Given the description of an element on the screen output the (x, y) to click on. 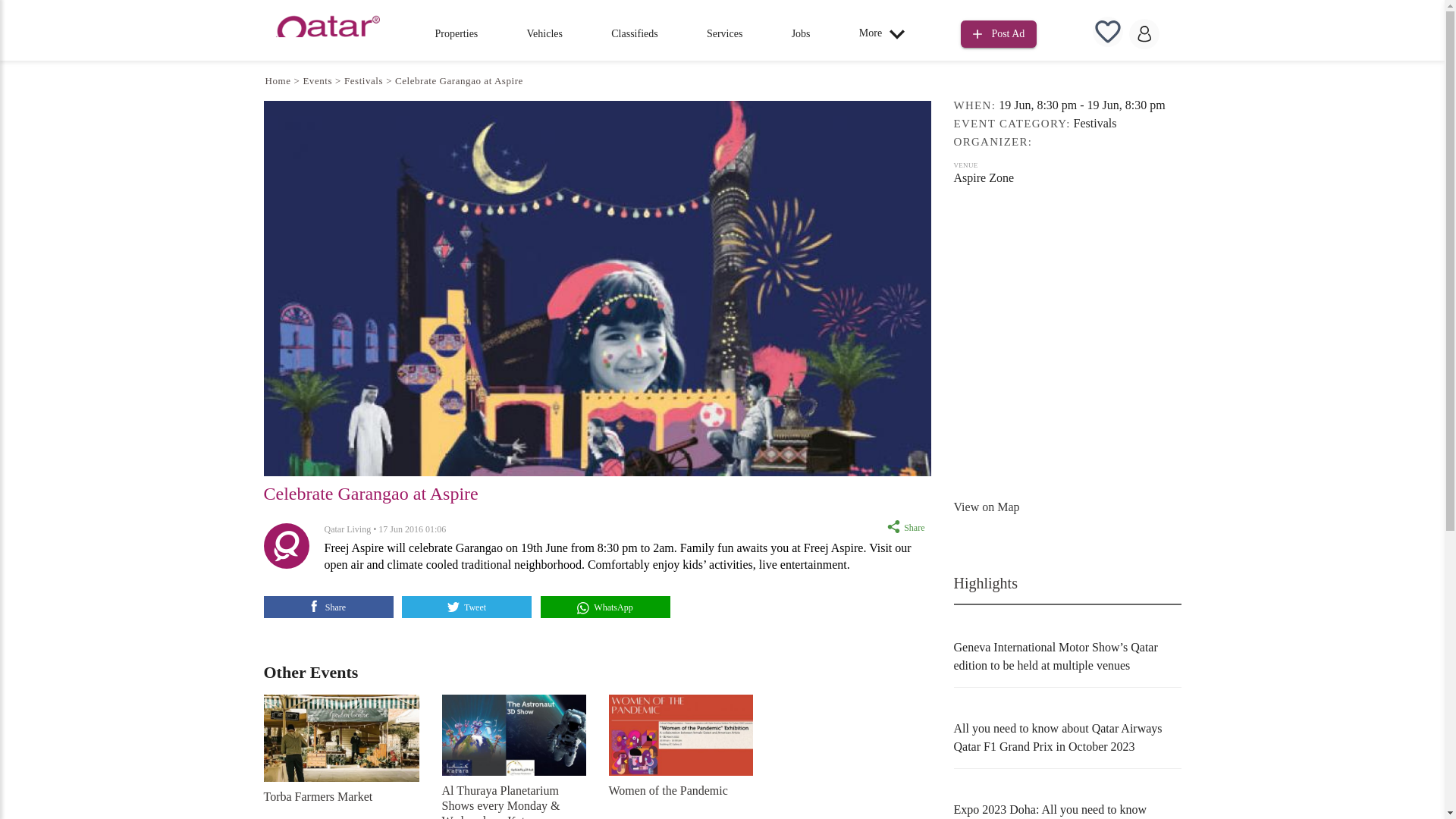
More (885, 33)
View user profile. (347, 529)
Classifieds (634, 33)
Post Ad (998, 32)
Post Ad (998, 34)
